Given the description of an element on the screen output the (x, y) to click on. 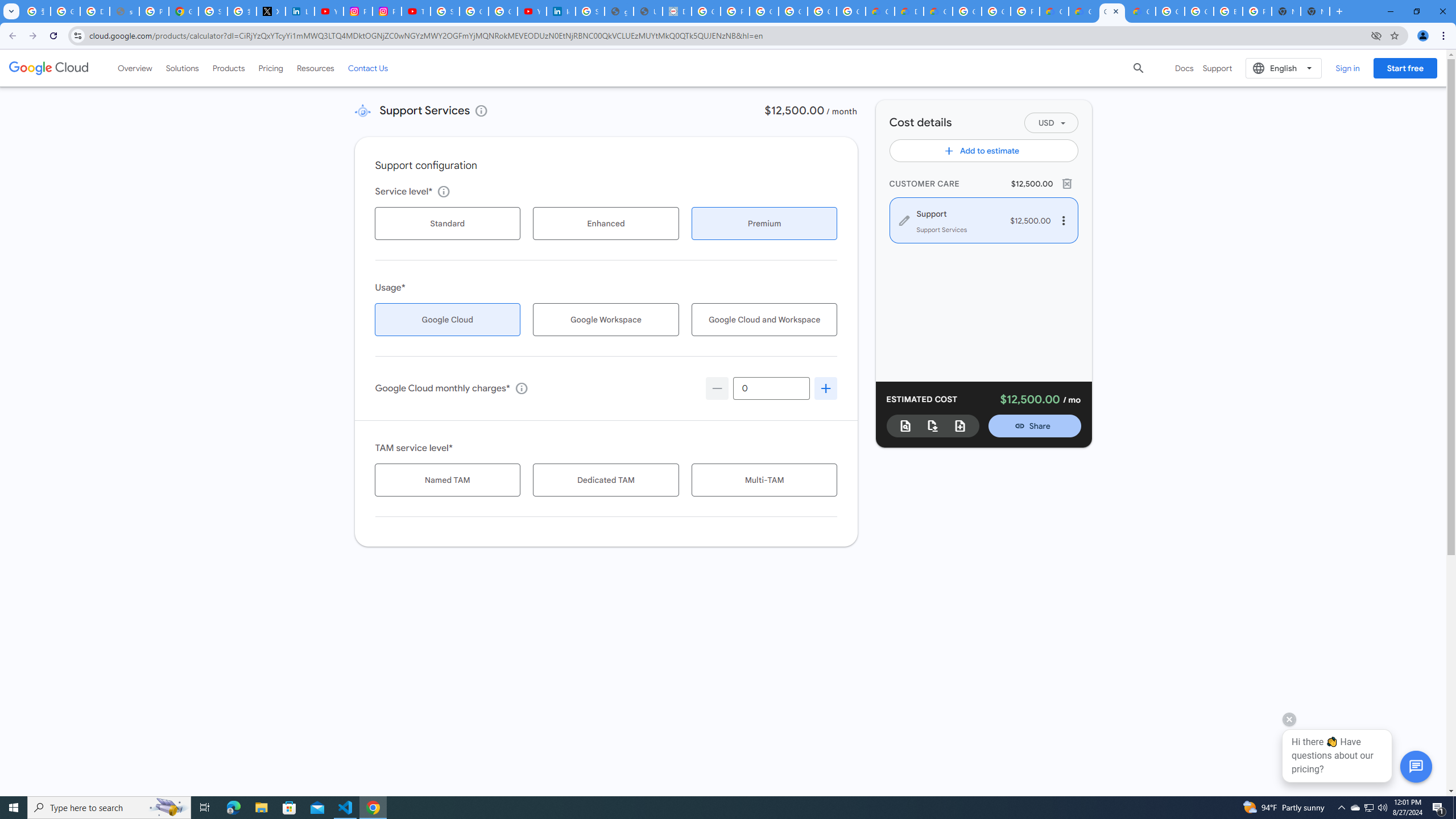
Privacy Help Center - Policies Help (153, 11)
LinkedIn Privacy Policy (300, 11)
Gemini for Business and Developers | Google Cloud (938, 11)
Edit service (903, 219)
New Tab (1315, 11)
Docs (1183, 67)
